Given the description of an element on the screen output the (x, y) to click on. 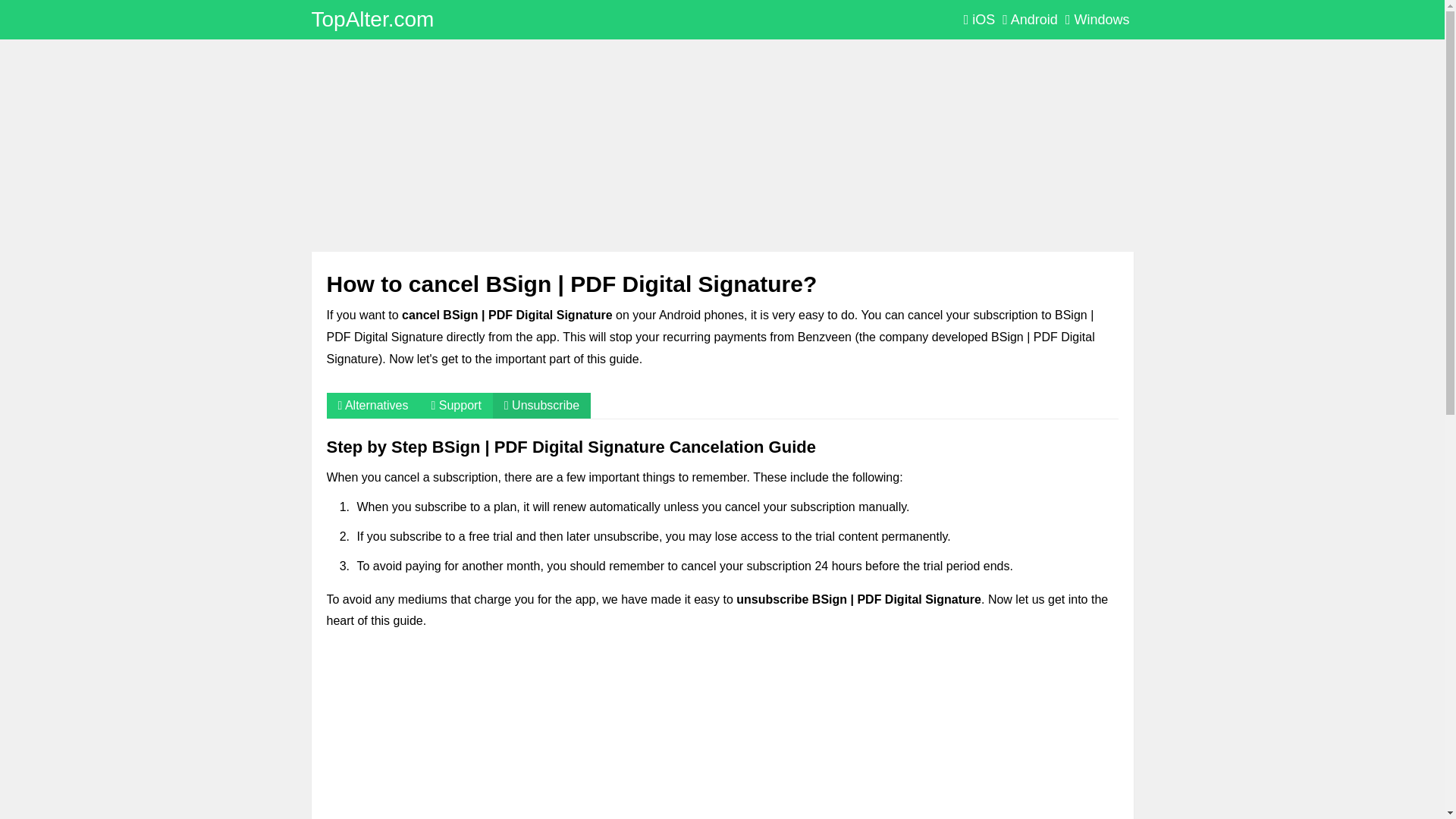
Windows (1097, 19)
iOS (978, 19)
Android (1029, 19)
Unsubscribe (542, 405)
TopAlter.com (372, 19)
Support (456, 405)
Alternatives (372, 405)
